Given the description of an element on the screen output the (x, y) to click on. 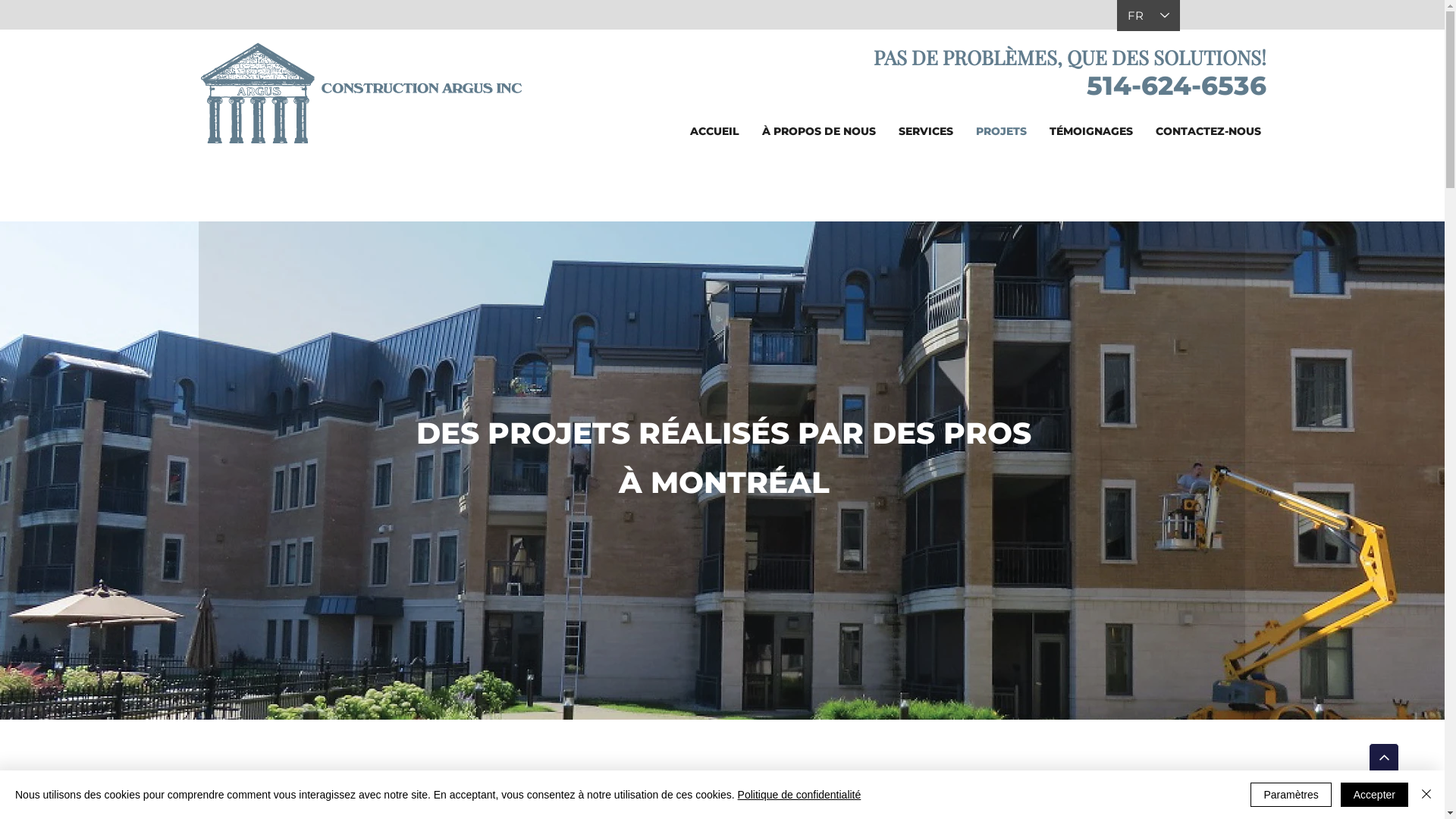
SERVICES Element type: text (925, 130)
514-624-6536 Element type: text (1172, 85)
ACCUEIL Element type: text (714, 130)
PROJETS Element type: text (1001, 130)
Accepter Element type: text (1374, 794)
CONTACTEZ-NOUS Element type: text (1208, 130)
